Given the description of an element on the screen output the (x, y) to click on. 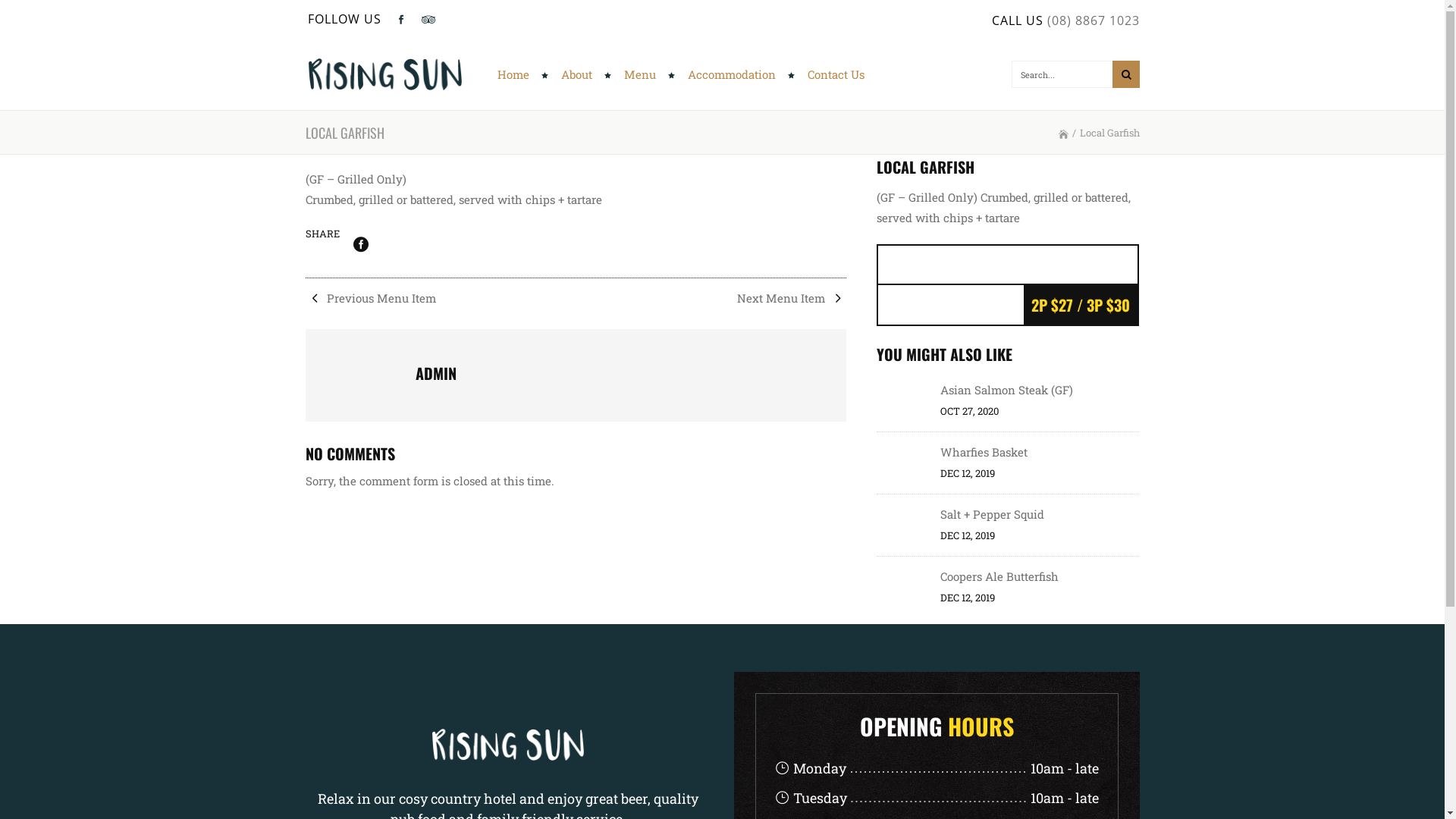
Wharfies Basket Element type: text (983, 451)
Menu Element type: text (642, 73)
Next Menu Item Element type: text (791, 297)
(08) 8867 1023 Element type: text (1092, 20)
Salt + Pepper Squid Element type: text (992, 513)
Previous Menu Item Element type: text (369, 297)
Coopers Ale Butterfish Element type: text (999, 575)
About Element type: text (579, 73)
Home Element type: text (514, 73)
Contact Us Element type: text (829, 73)
Accommodation Element type: text (734, 73)
Asian Salmon Steak (GF) Element type: text (1006, 389)
